Given the description of an element on the screen output the (x, y) to click on. 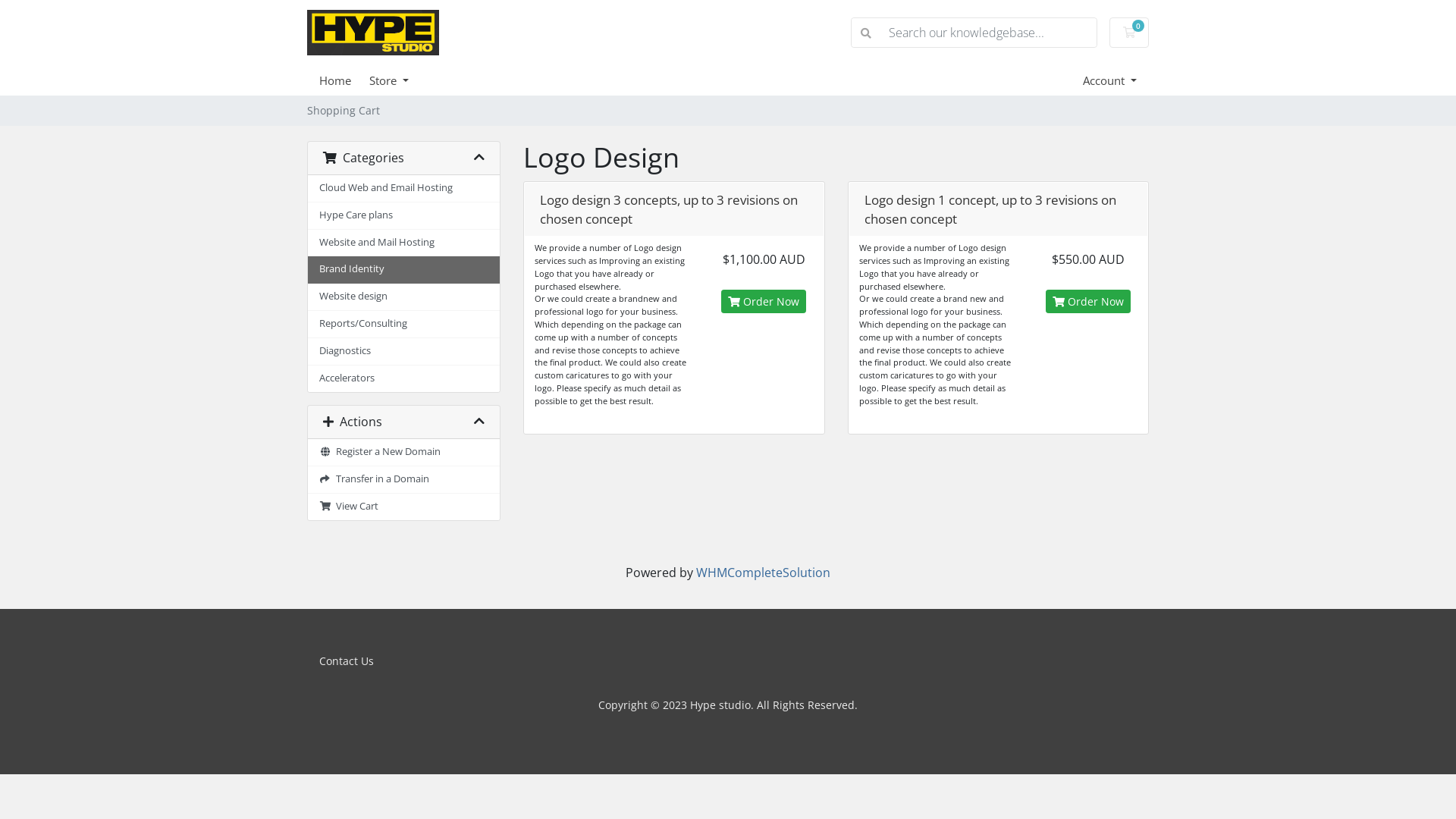
  Register a New Domain Element type: text (403, 452)
Store Element type: text (397, 79)
0
Shopping Cart Element type: text (1128, 32)
Contact Us Element type: text (346, 660)
Cloud Web and Email Hosting Element type: text (403, 188)
Account Element type: text (1109, 79)
Order Now Element type: text (1087, 301)
  Transfer in a Domain Element type: text (403, 479)
WHMCompleteSolution Element type: text (763, 572)
Hype Care plans Element type: text (403, 215)
Home Element type: text (344, 79)
Brand Identity Element type: text (403, 269)
Website design Element type: text (403, 296)
  View Cart Element type: text (403, 506)
Accelerators Element type: text (403, 378)
Diagnostics Element type: text (403, 351)
Order Now Element type: text (763, 301)
Website and Mail Hosting Element type: text (403, 243)
Reports/Consulting Element type: text (403, 324)
